Given the description of an element on the screen output the (x, y) to click on. 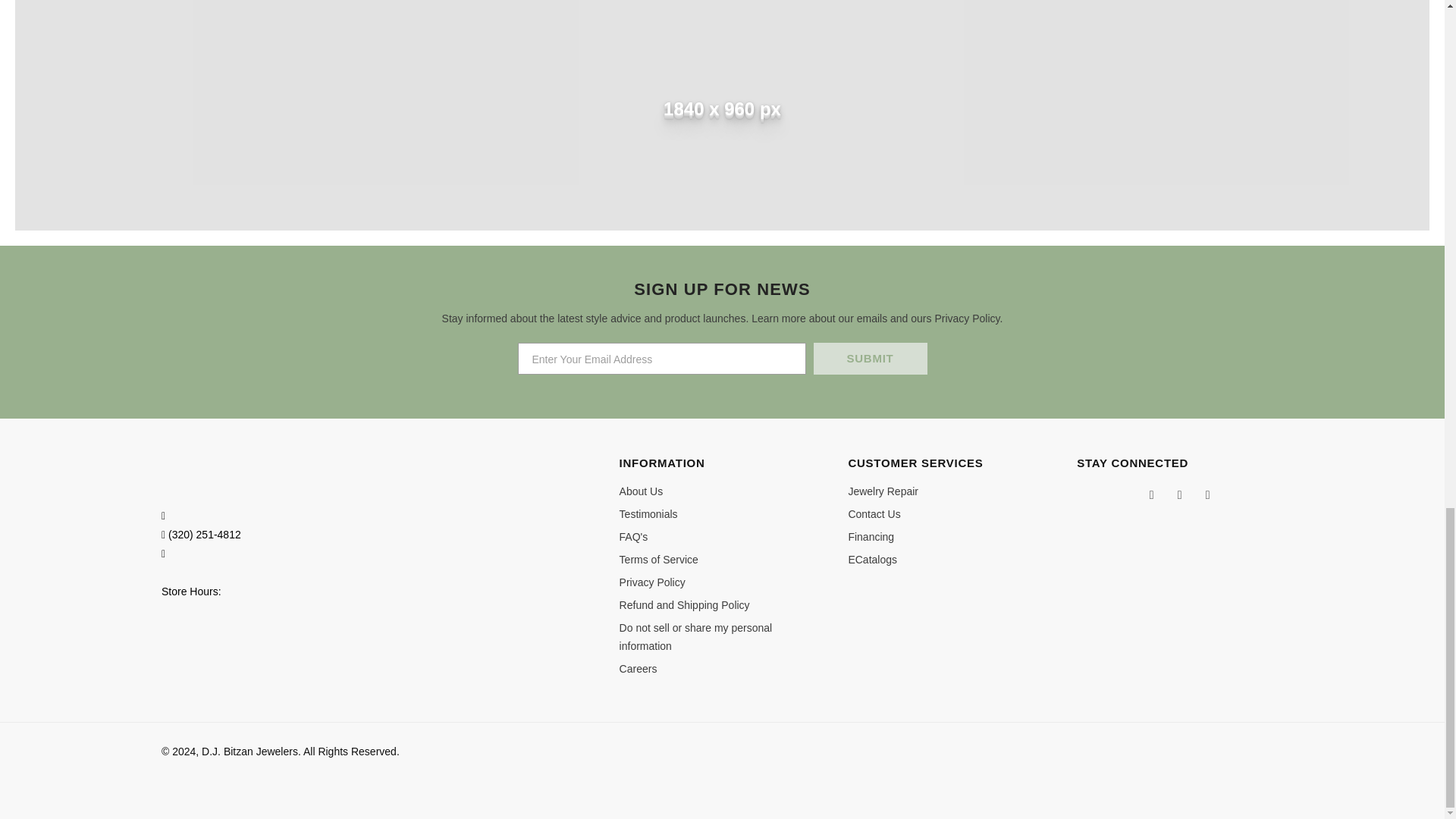
FAQ's (633, 536)
About Us (641, 490)
Terms of Service (659, 558)
Submit (869, 358)
Testimonials (649, 513)
Do not sell or share my personal information (722, 636)
Refund and Shipping Policy (684, 604)
Privacy Policy (652, 581)
About Us (641, 490)
Testimonials (649, 513)
